Given the description of an element on the screen output the (x, y) to click on. 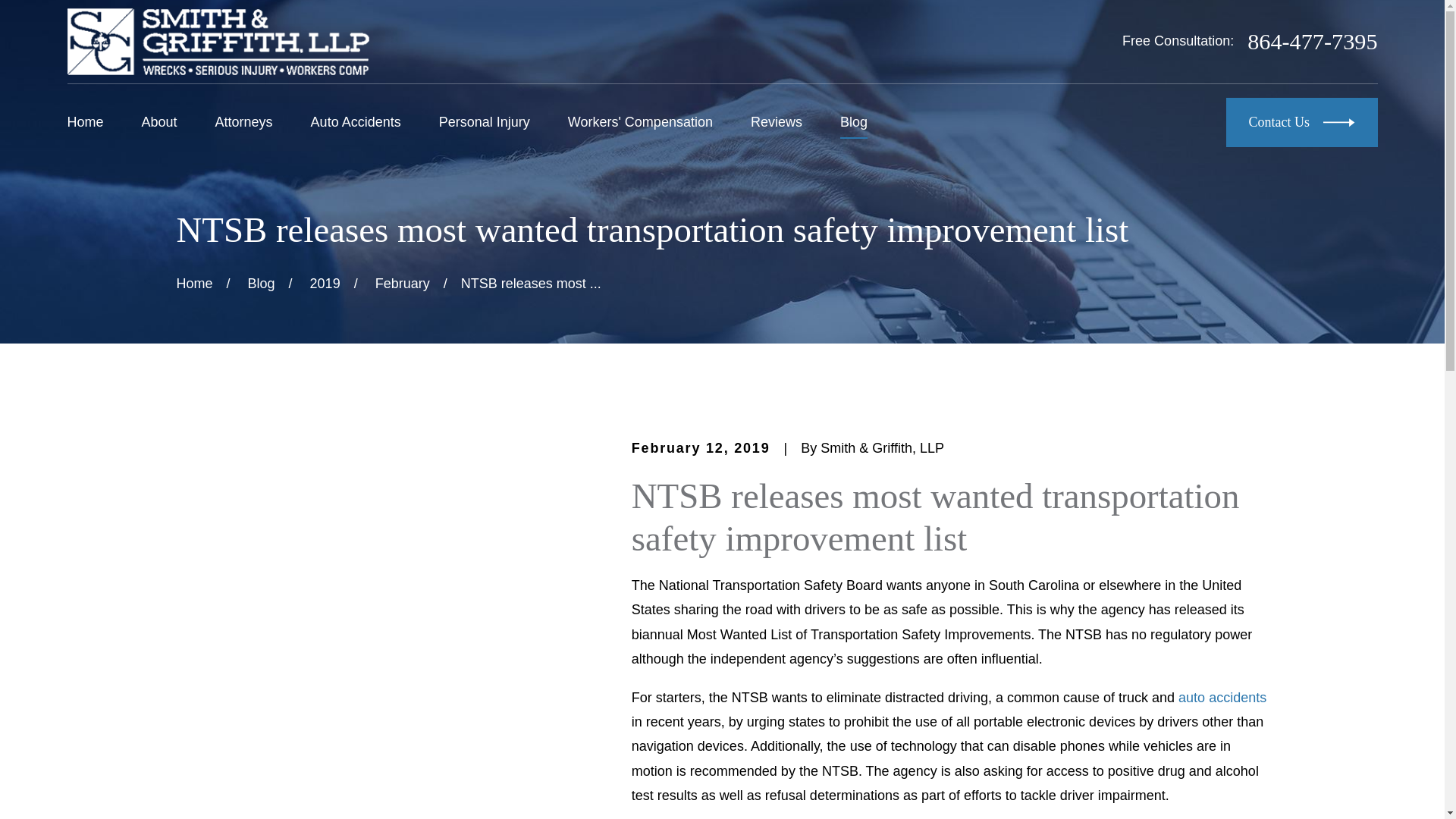
Go Home (194, 283)
Workers' Compensation (640, 122)
Home (217, 41)
Attorneys (244, 122)
Auto Accidents (356, 122)
864-477-7395 (1312, 41)
Personal Injury (484, 122)
